Given the description of an element on the screen output the (x, y) to click on. 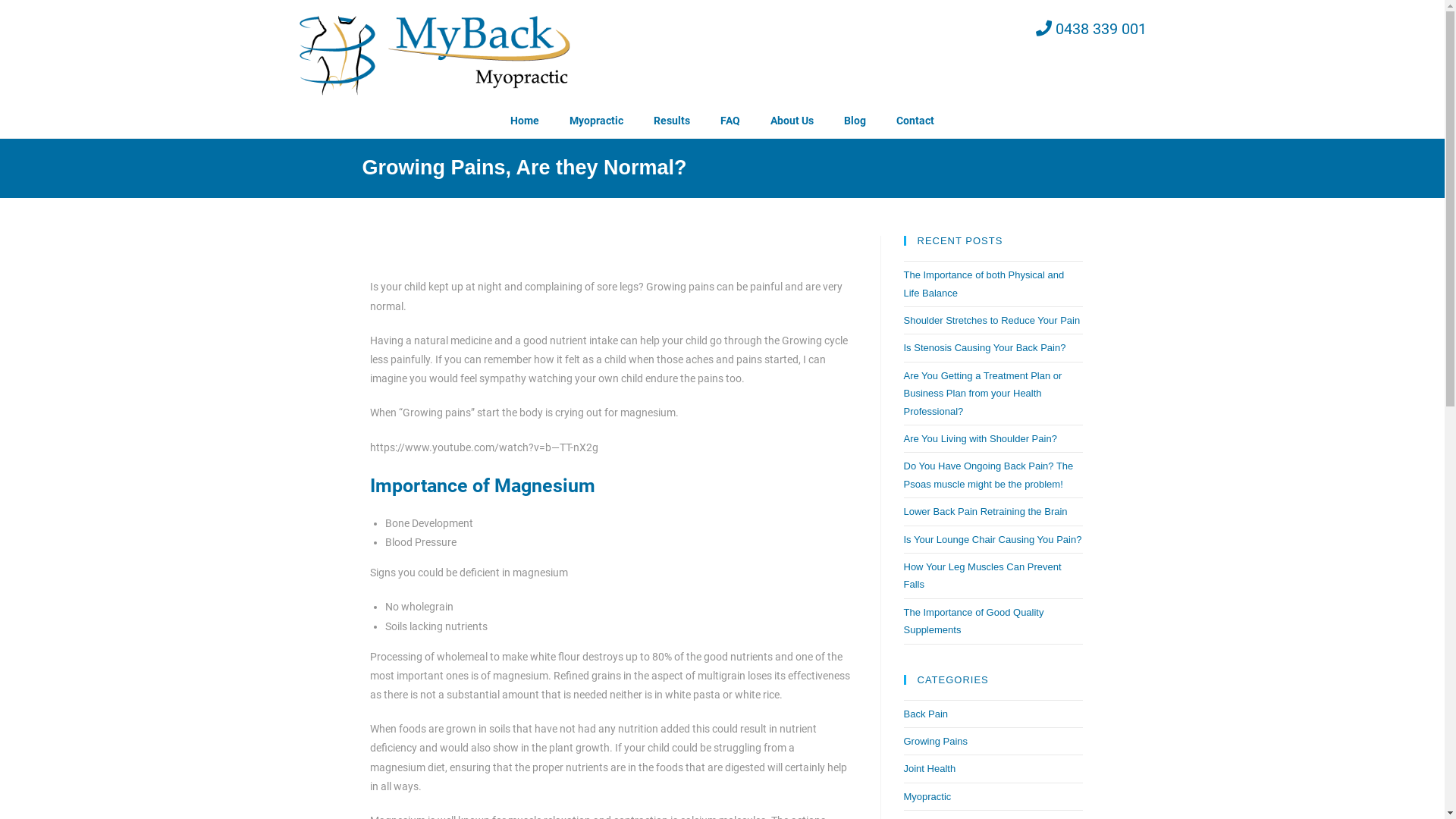
Growing Pains Element type: text (935, 740)
Lower Back Pain Retraining the Brain Element type: text (985, 511)
The Importance of Good Quality Supplements Element type: text (973, 620)
FAQ Element type: text (730, 120)
Home Element type: text (524, 120)
Joint Health Element type: text (929, 768)
Contact Element type: text (915, 120)
Is Your Lounge Chair Causing You Pain? Element type: text (992, 539)
Myopractic Element type: text (927, 796)
Results Element type: text (671, 120)
0438 339 001 Element type: text (865, 28)
Blog Element type: text (854, 120)
About Us Element type: text (791, 120)
Is Stenosis Causing Your Back Pain? Element type: text (984, 347)
The Importance of both Physical and Life Balance Element type: text (983, 283)
Back Pain Element type: text (925, 713)
Are You Living with Shoulder Pain? Element type: text (980, 438)
How Your Leg Muscles Can Prevent Falls Element type: text (982, 575)
Shoulder Stretches to Reduce Your Pain Element type: text (991, 320)
Myopractic Element type: text (596, 120)
